Given the description of an element on the screen output the (x, y) to click on. 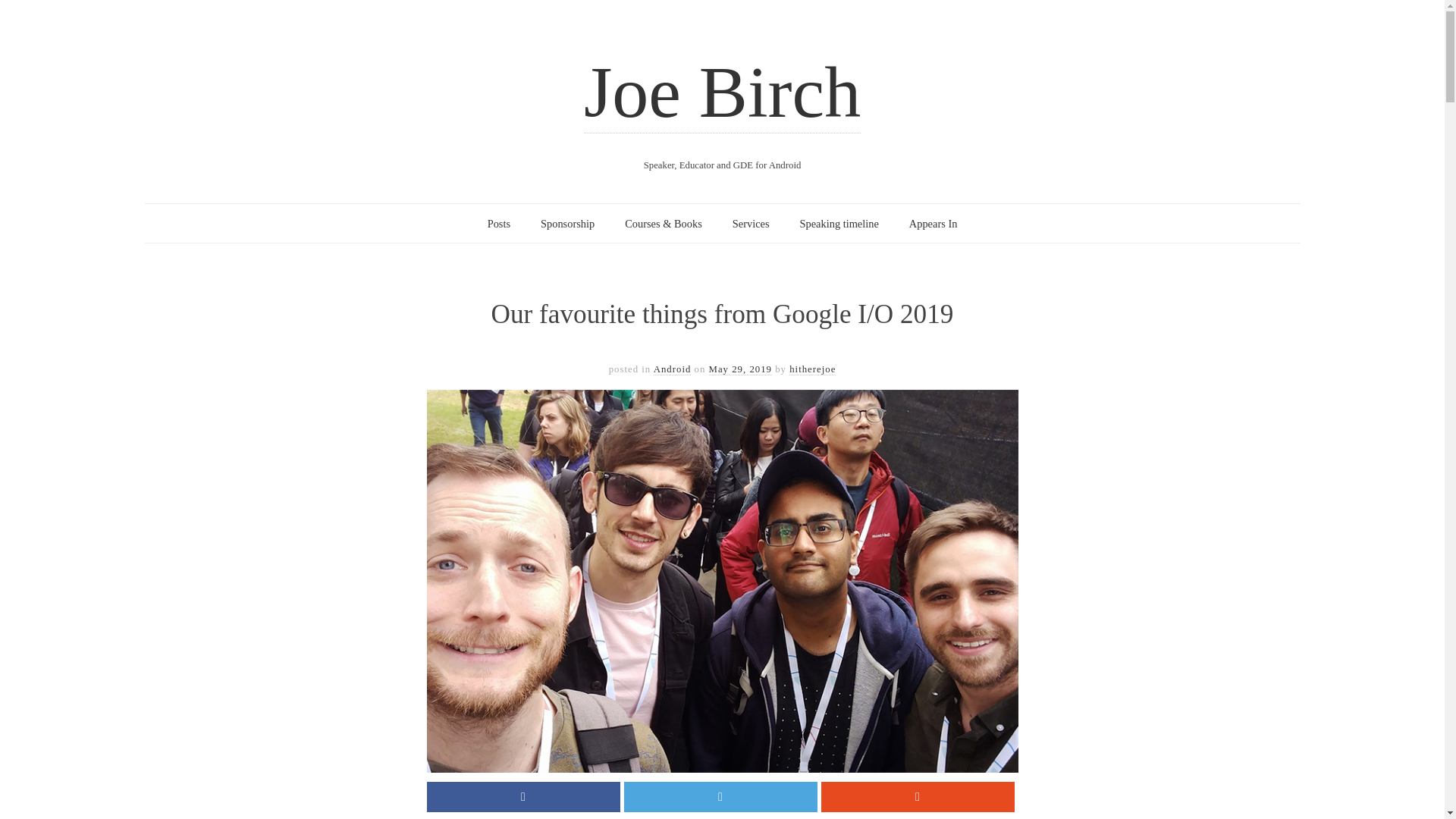
hitherejoe (812, 369)
Sponsorship (567, 223)
May 29, 2019 (740, 369)
Posts (499, 223)
1:46 pm (740, 369)
Services (751, 223)
Appears In (933, 223)
Joe Birch (721, 92)
Android (672, 369)
View all posts by hitherejoe (812, 369)
Speaking timeline (839, 223)
